Given the description of an element on the screen output the (x, y) to click on. 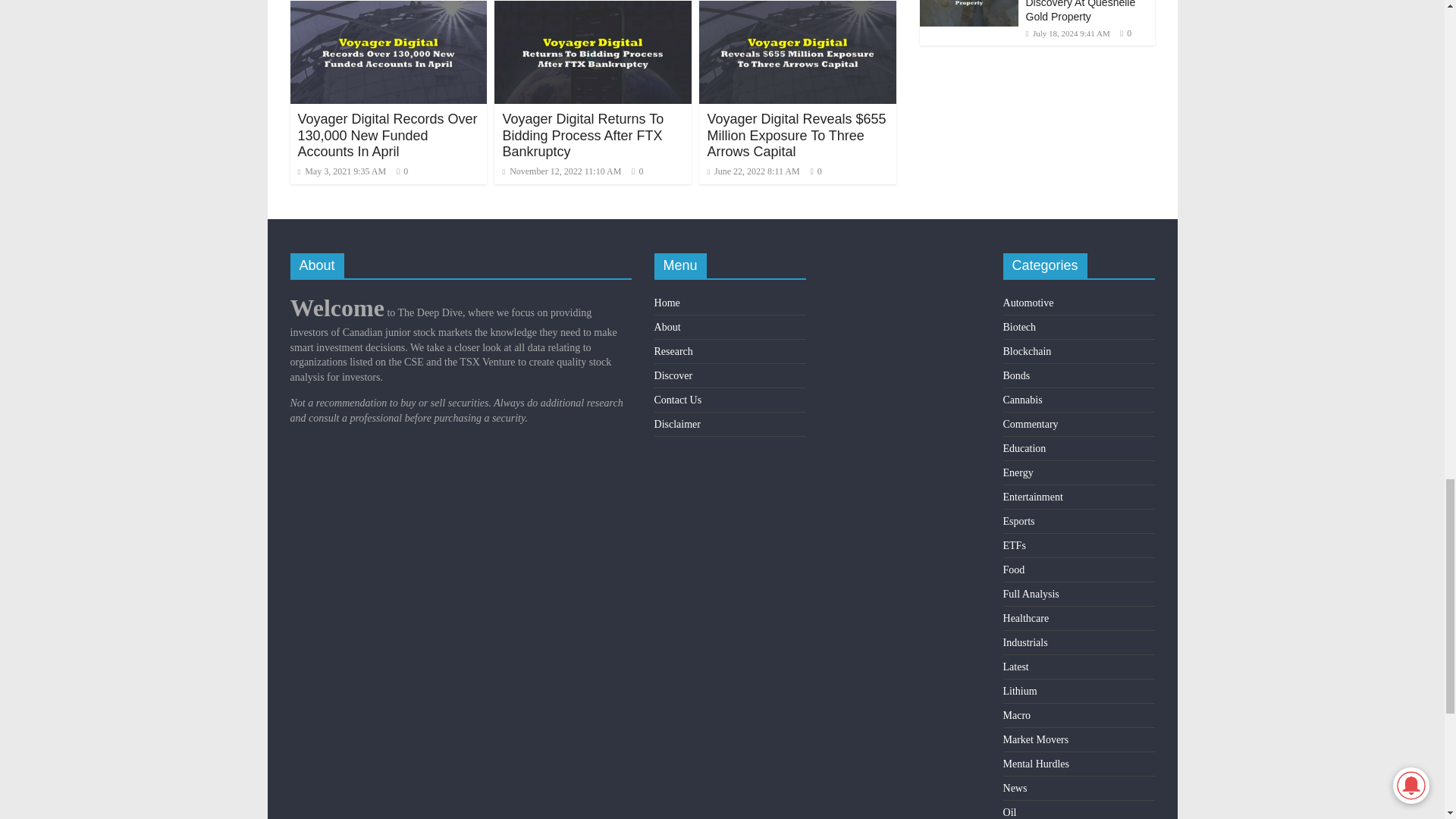
9:35 am (341, 171)
